Given the description of an element on the screen output the (x, y) to click on. 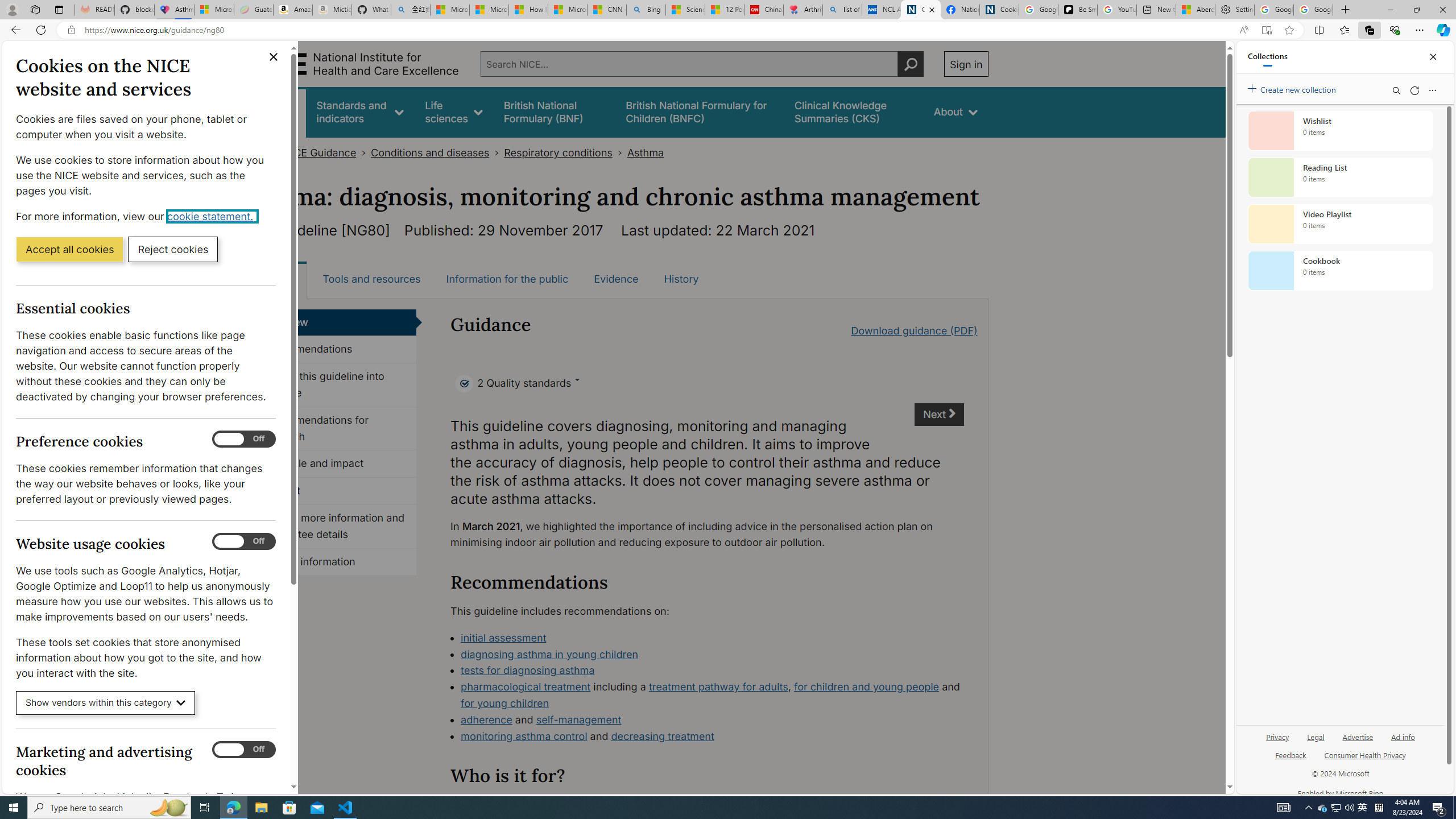
Overview (333, 321)
tests for diagnosing asthma (711, 670)
Recommendations for research (333, 428)
Asthma (644, 152)
Asthma (644, 152)
Overview (333, 321)
Home> (260, 152)
Tools and resources (370, 279)
